Given the description of an element on the screen output the (x, y) to click on. 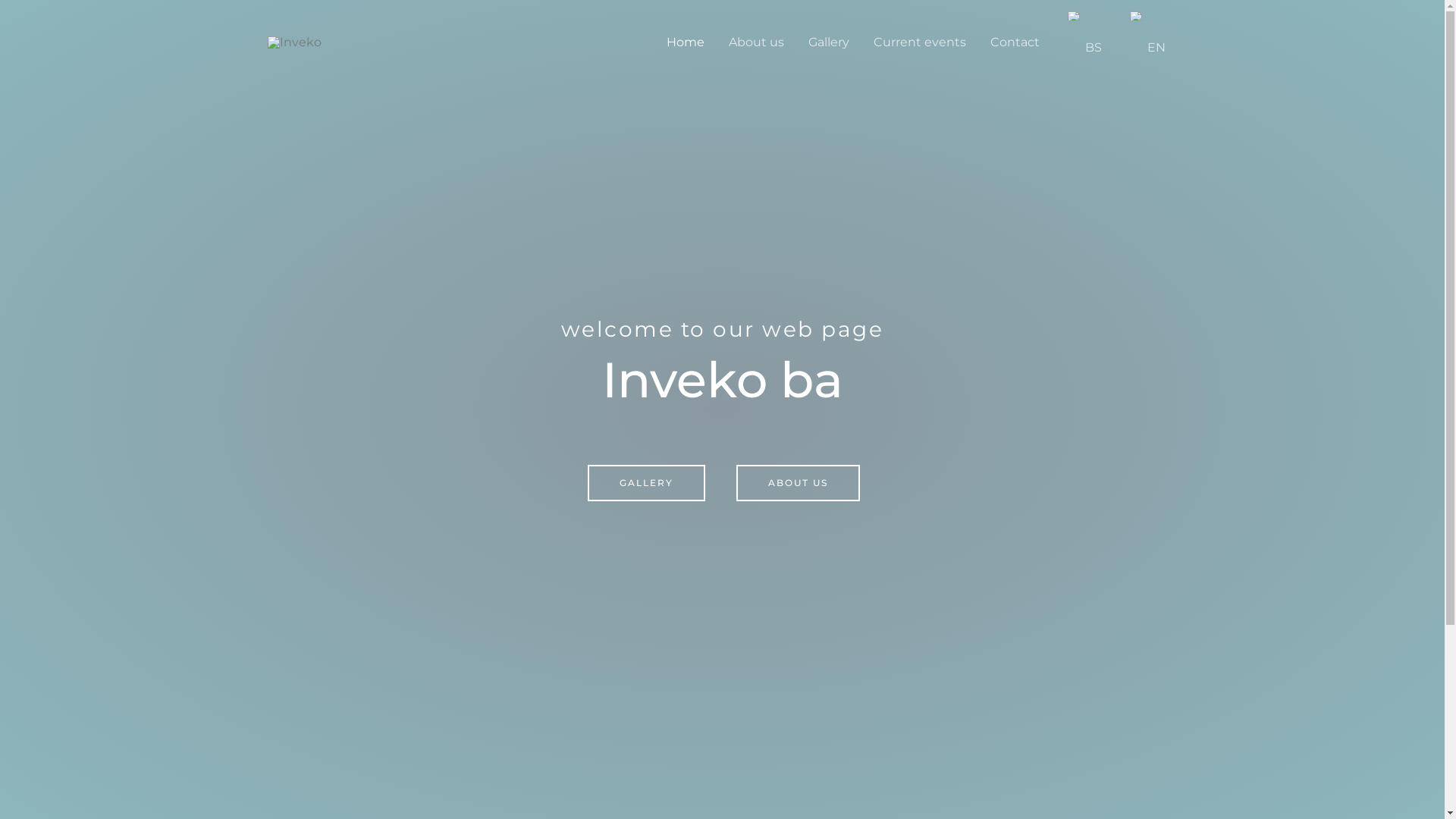
BS Element type: text (1082, 42)
Bosanski Element type: hover (1074, 15)
Contact Element type: text (1014, 42)
Current events Element type: text (919, 42)
English Element type: hover (1136, 15)
Home Element type: text (684, 42)
Gallery Element type: text (828, 42)
GALLERY Element type: text (646, 482)
ABOUT US Element type: text (797, 482)
EN Element type: text (1144, 42)
About us Element type: text (755, 42)
